Given the description of an element on the screen output the (x, y) to click on. 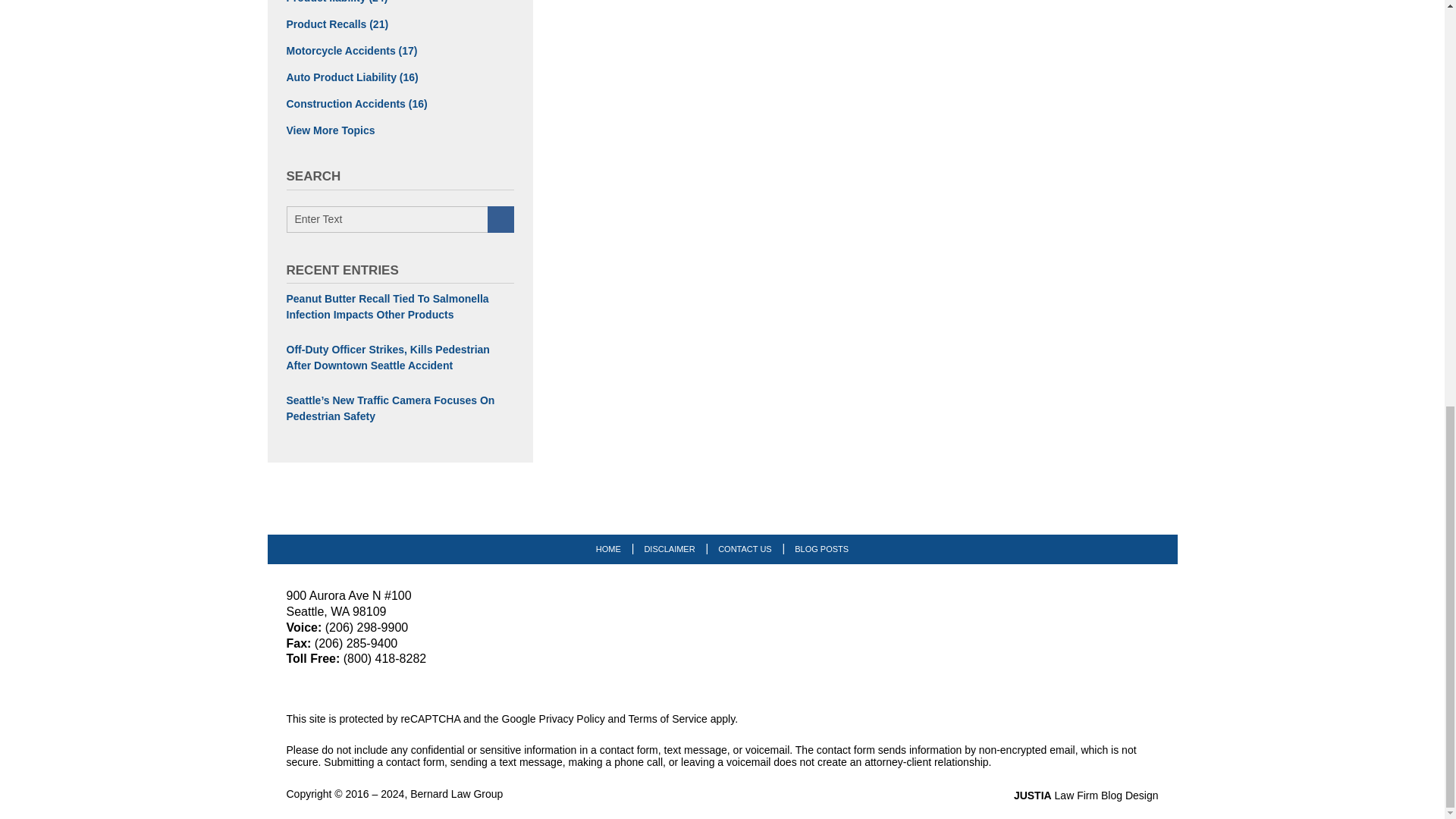
View More Topics (399, 130)
